Given the description of an element on the screen output the (x, y) to click on. 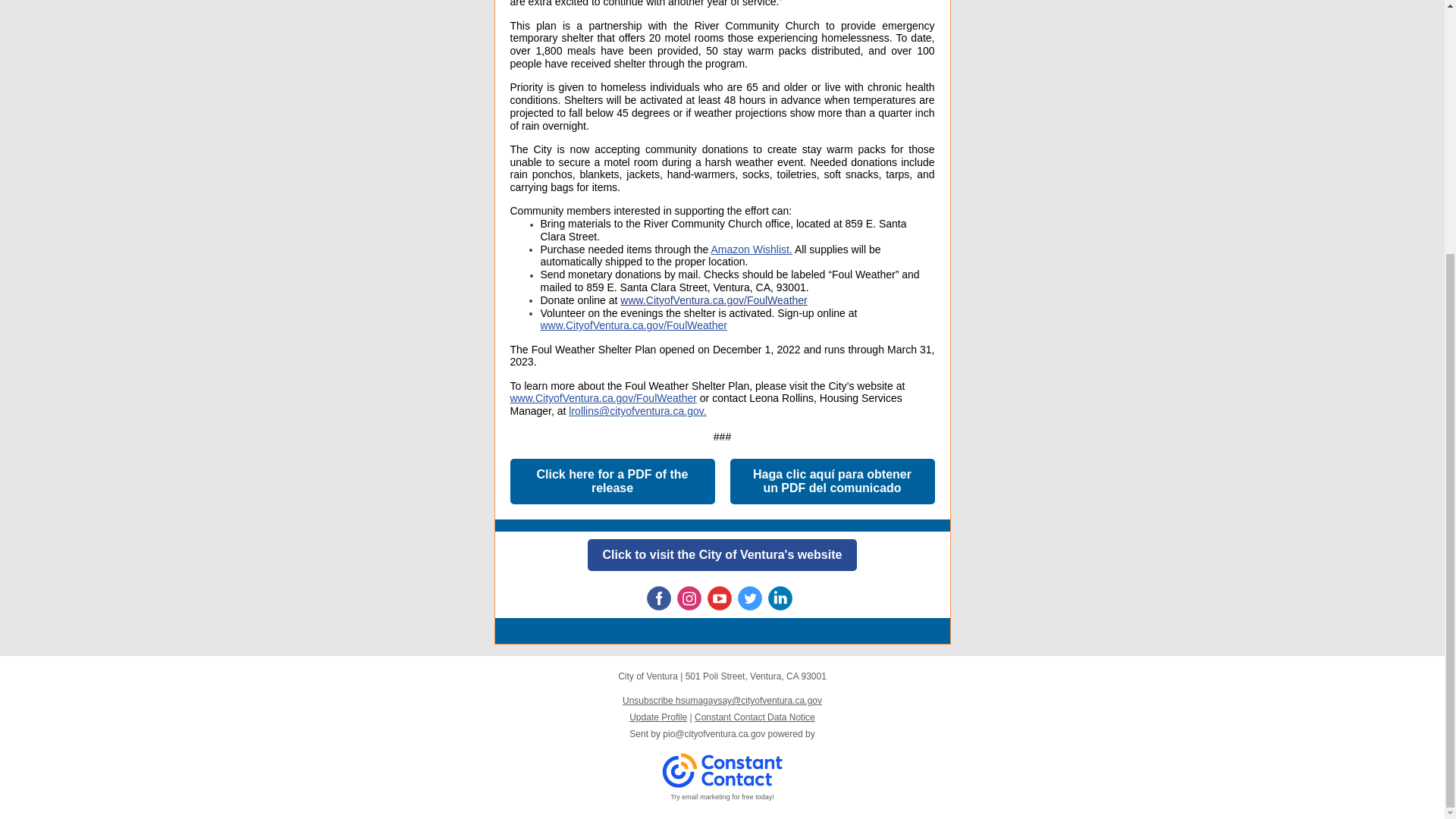
Click to visit the City of Ventura's website (722, 554)
Constant Contact Data Notice (754, 716)
Amazon Wishlist. (751, 249)
Update Profile (657, 716)
Click here for a PDF of the release (611, 480)
Try email marketing for free today! (721, 796)
